Given the description of an element on the screen output the (x, y) to click on. 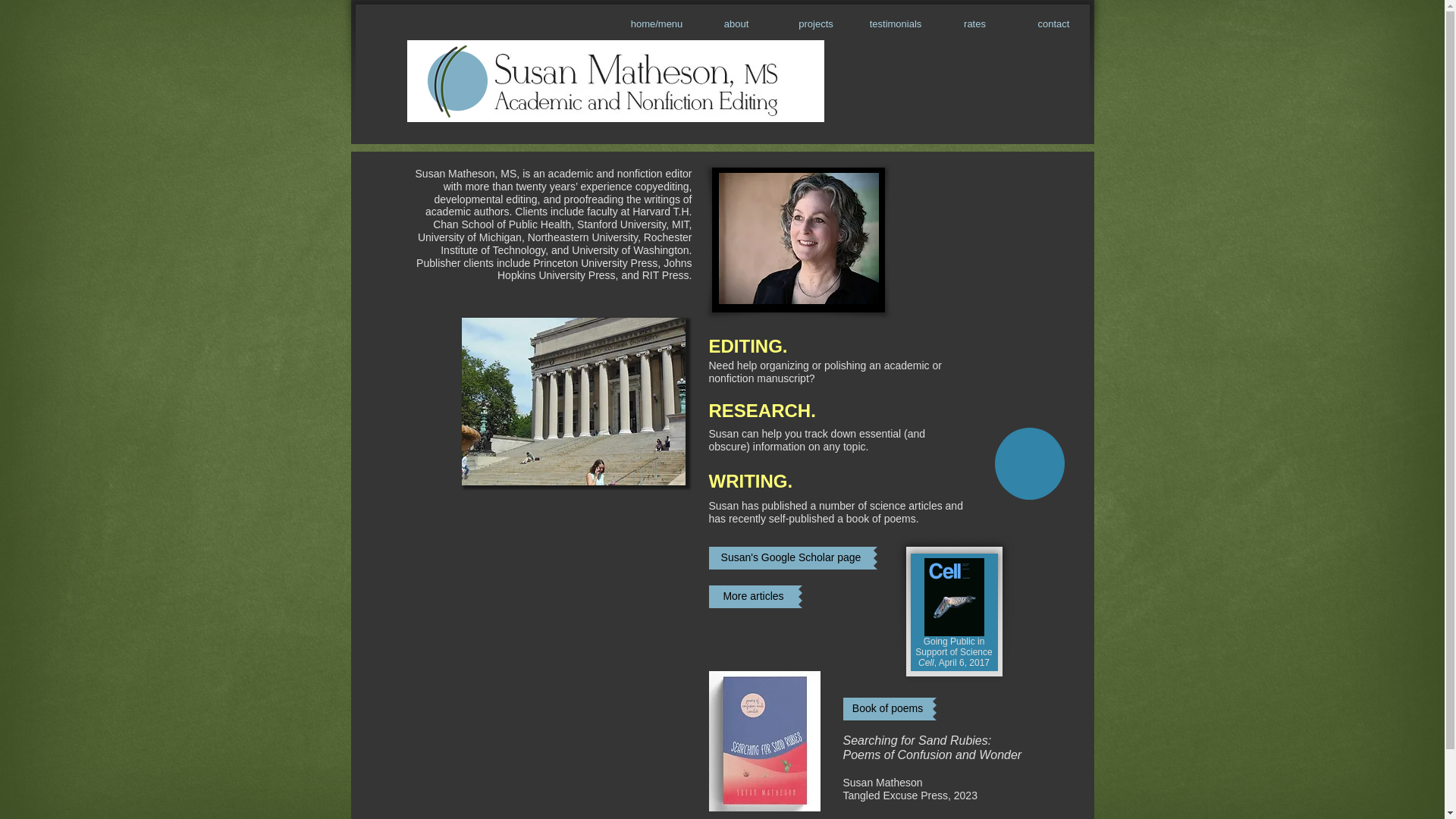
WRITING. (749, 477)
Cell, April 6, 2017 (954, 662)
testimonials (895, 23)
rates (975, 23)
More articles (752, 596)
RESEARCH. (761, 407)
Susan Matheson, MS, Academic and Nonficton Editing (644, 81)
Susan's Google Scholar page (789, 558)
Book of poems (888, 708)
